Given the description of an element on the screen output the (x, y) to click on. 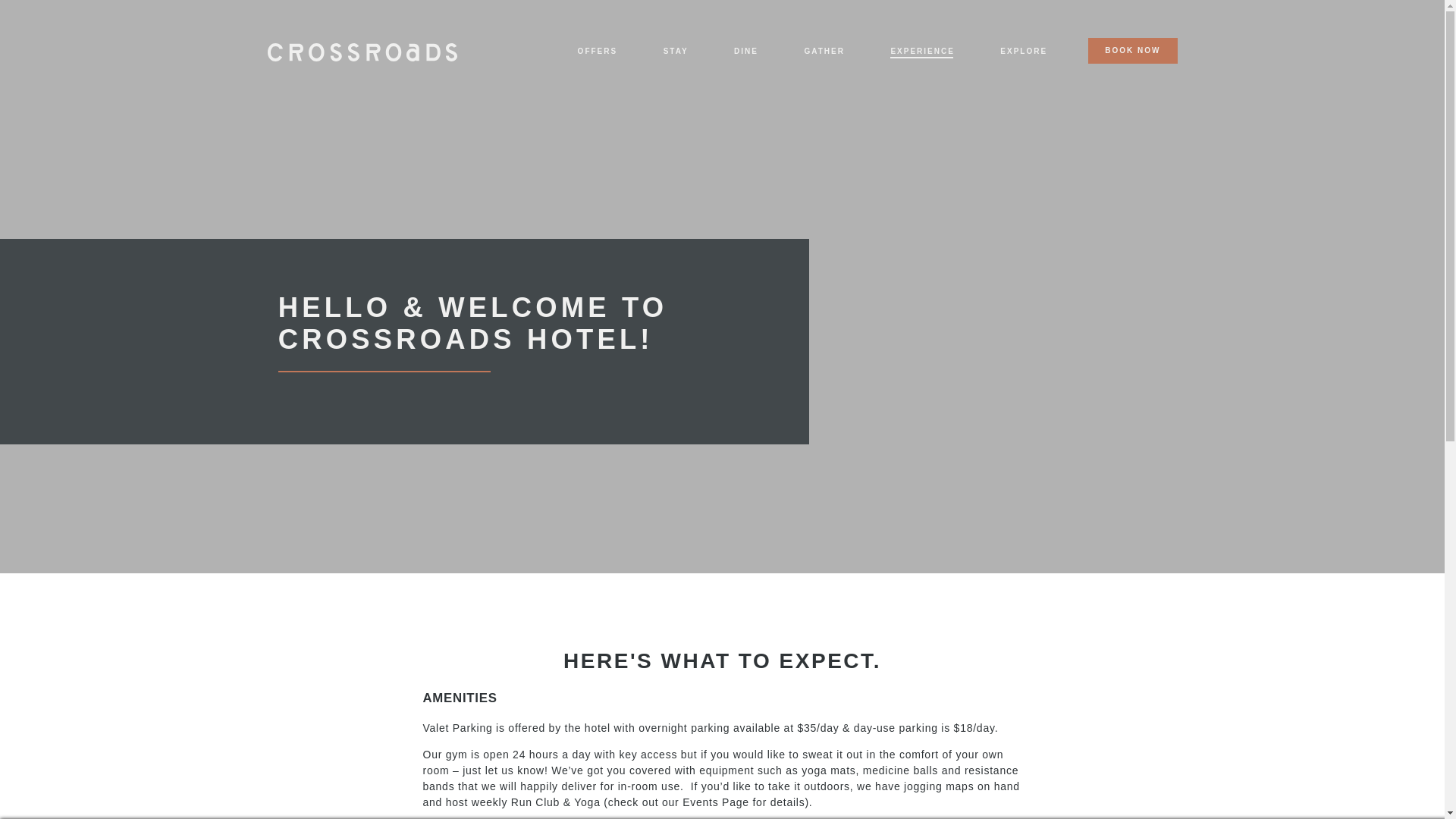
DINE (745, 50)
BOOK NOW (1131, 50)
EXPLORE (1023, 50)
Events Page (715, 802)
EXPERIENCE (922, 50)
STAY (676, 50)
GATHER (822, 50)
OFFERS (597, 50)
